Given the description of an element on the screen output the (x, y) to click on. 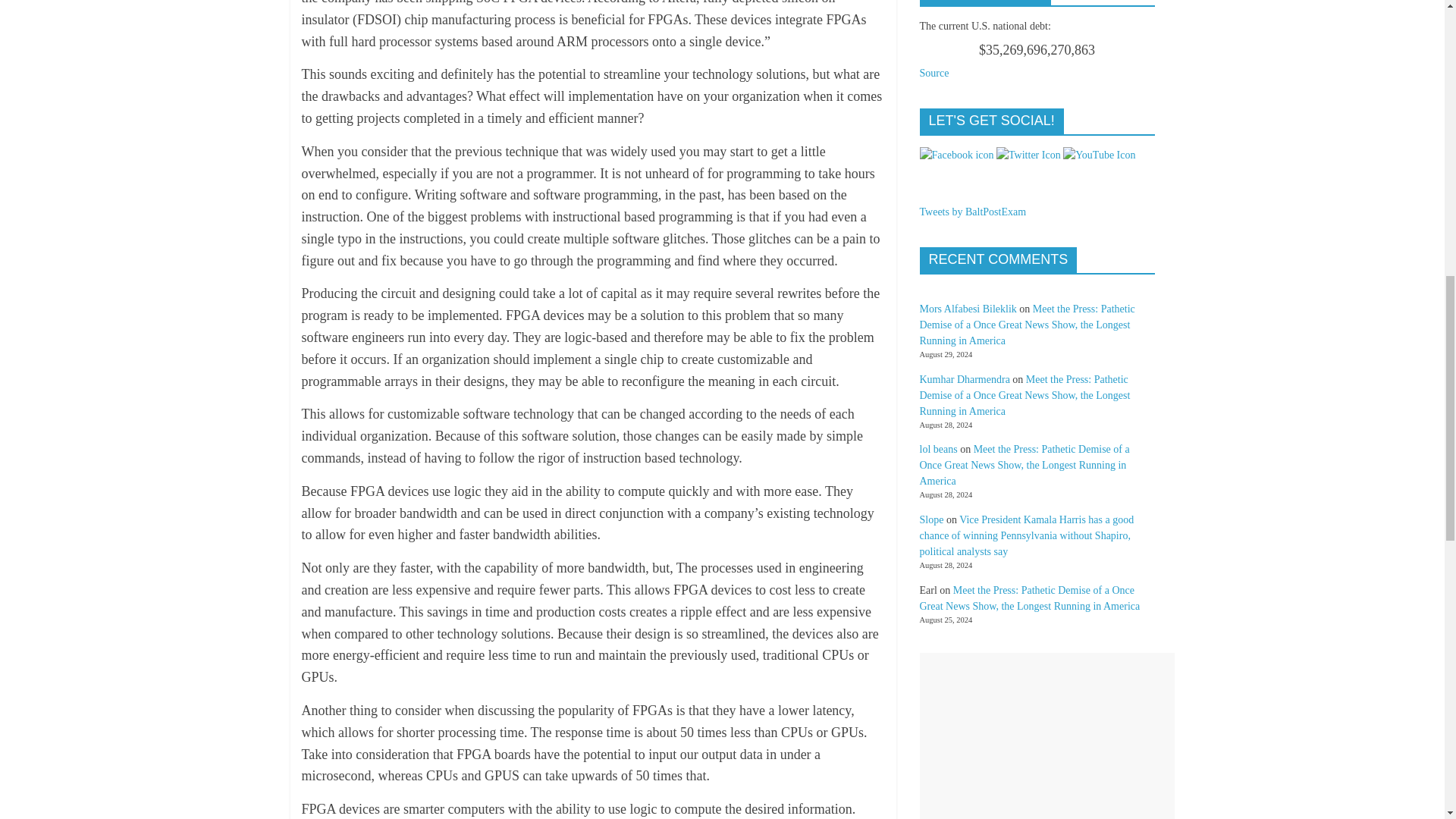
lol beans (937, 449)
Tweets by BaltPostExam (972, 211)
Source (933, 72)
Kumhar Dharmendra (963, 378)
Mors Alfabesi Bileklik (967, 308)
